Given the description of an element on the screen output the (x, y) to click on. 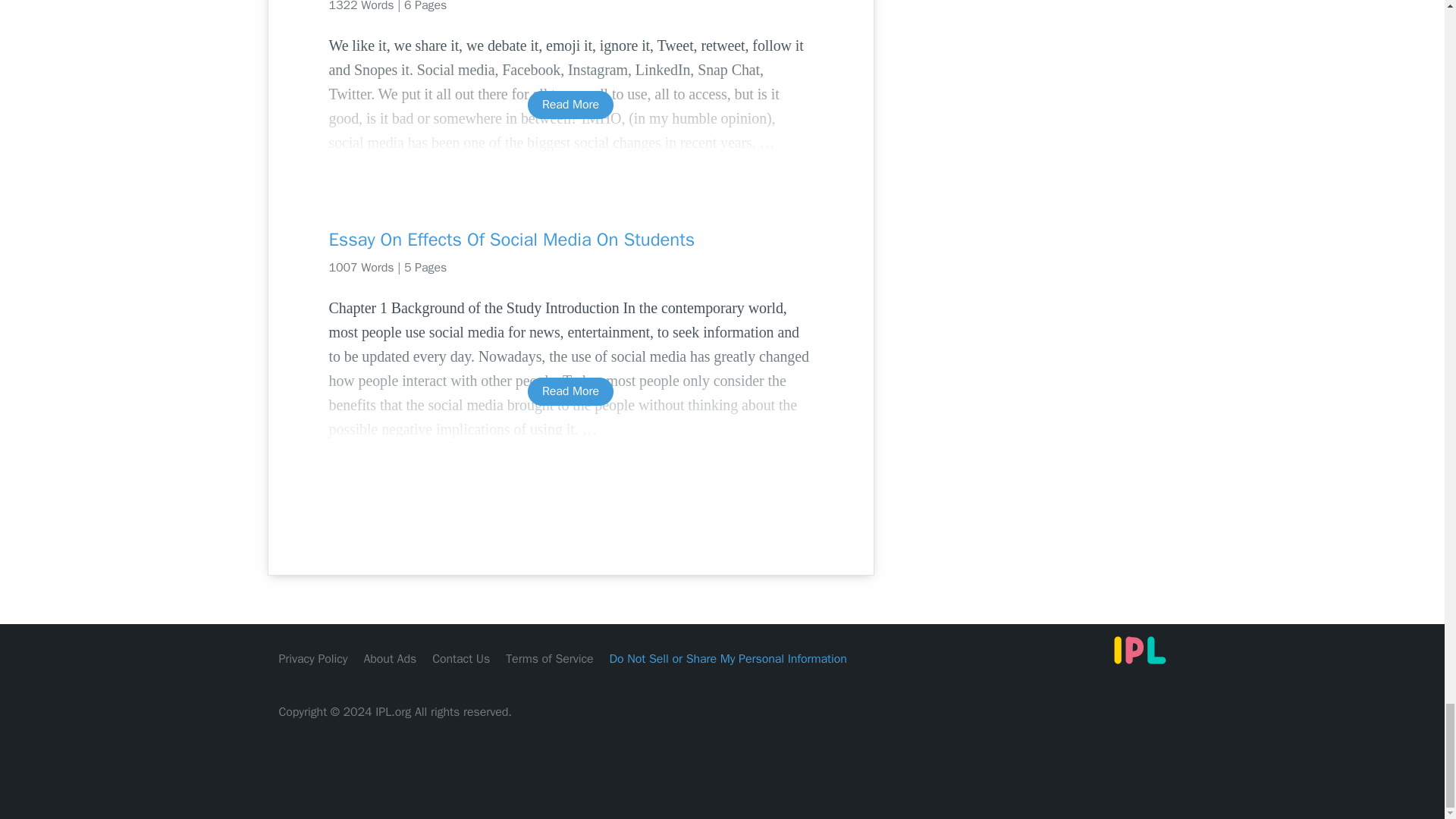
Contact Us (460, 658)
About Ads (389, 658)
Terms of Service (548, 658)
Privacy Policy (313, 658)
